Given the description of an element on the screen output the (x, y) to click on. 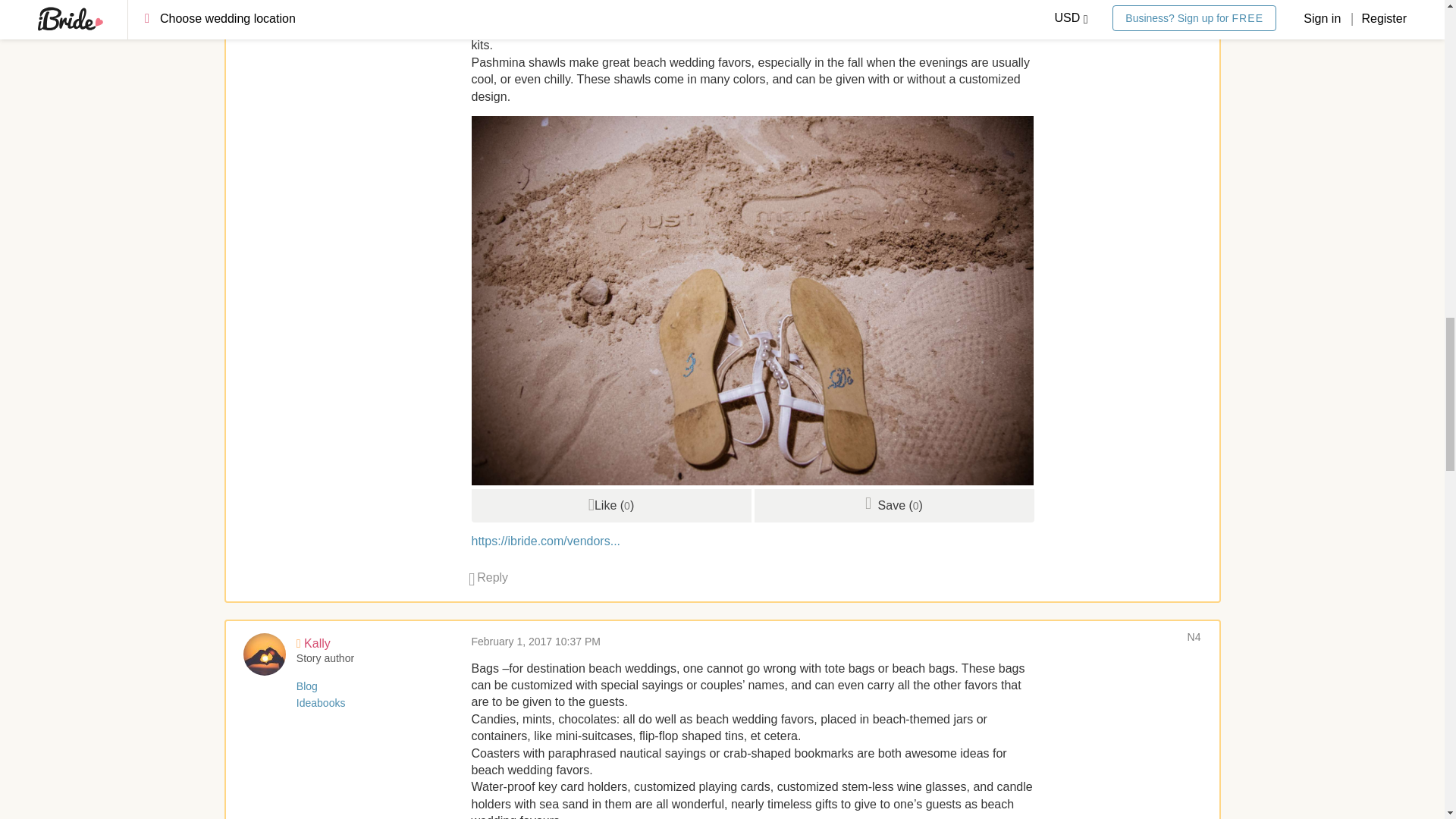
Ideabooks (321, 11)
N4 (1194, 636)
Reply (488, 576)
Blog (307, 0)
Reply (488, 576)
